Given the description of an element on the screen output the (x, y) to click on. 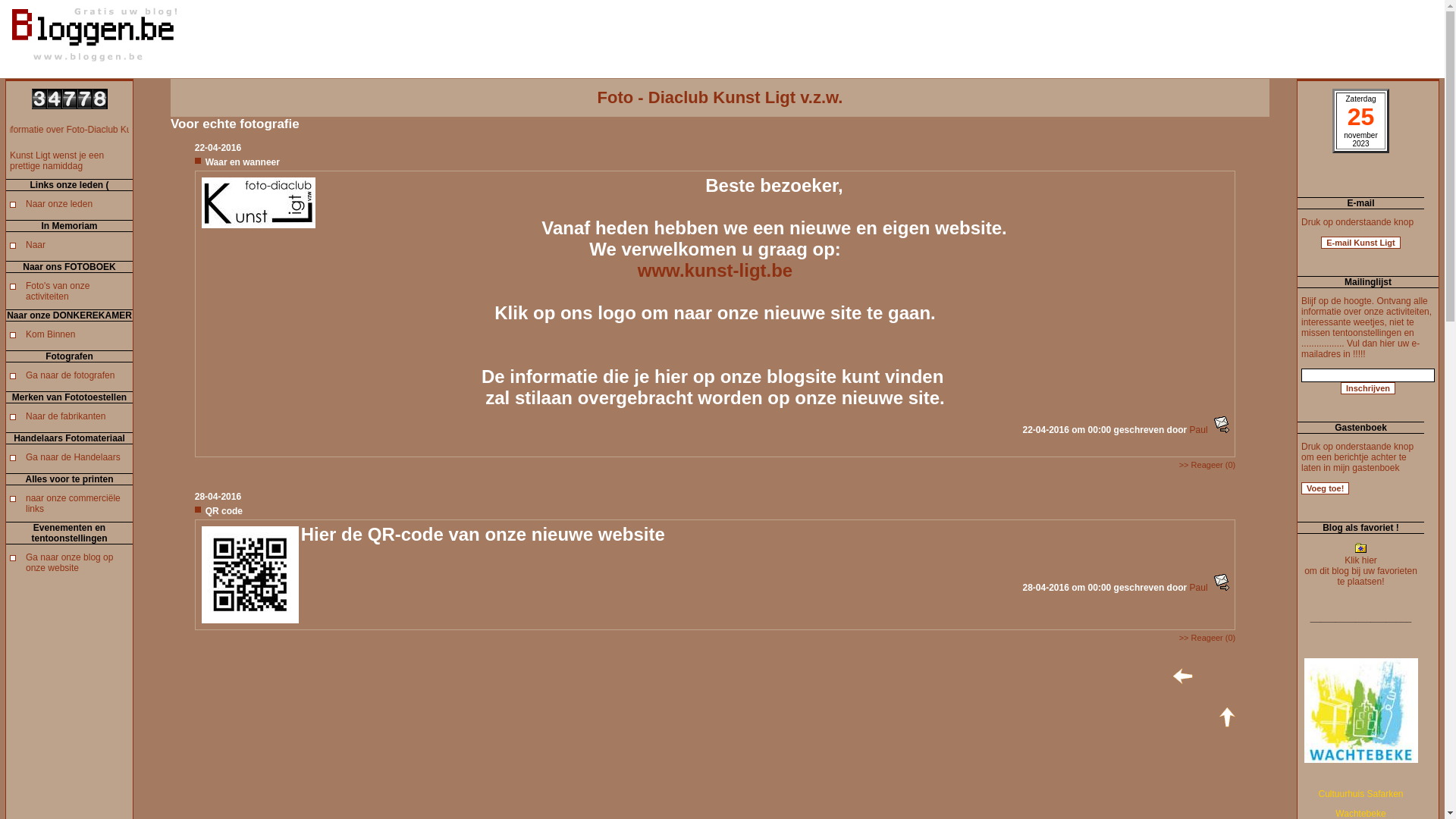
Naar Element type: text (35, 244)
Paul Element type: text (1198, 429)
Foto's van onze activiteiten Element type: text (57, 290)
Ga naar de fotografen Element type: text (69, 375)
Ga naar onze blog op onze website Element type: text (68, 562)
Ga naar de Handelaars Element type: text (72, 456)
E-mail Kunst Ligt Element type: text (1360, 242)
>> Reageer (0) Element type: text (1207, 464)
Cultuurhuis Safarken Element type: text (1359, 793)
Paul Element type: text (1198, 587)
Kom Binnen Element type: text (50, 334)
www.kunst-ligt.be Element type: text (714, 270)
Naar onze leden Element type: text (58, 203)
>> Reageer (0) Element type: text (1207, 637)
Naar de fabrikanten Element type: text (65, 416)
Inschrijven Element type: text (1367, 388)
Voeg toe! Element type: text (1325, 488)
Klik hier
om dit blog bij uw favorieten te plaatsen! Element type: text (1360, 566)
